Given the description of an element on the screen output the (x, y) to click on. 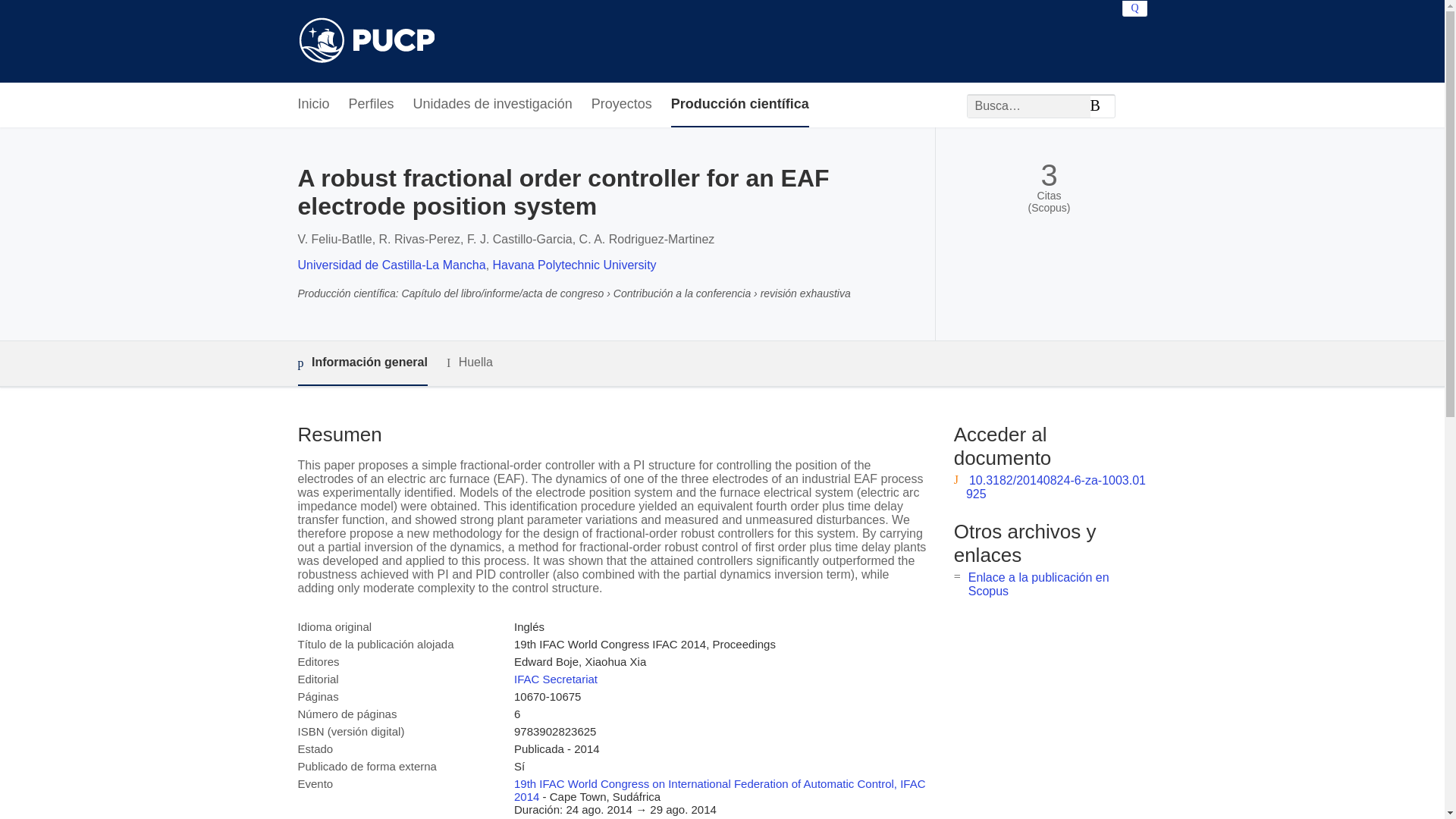
Huella (469, 362)
Proyectos (621, 104)
You have access to view this document (1056, 487)
IFAC Secretariat (554, 678)
Havana Polytechnic University (574, 264)
Universidad de Castilla-La Mancha (390, 264)
Perfiles (371, 104)
